Given the description of an element on the screen output the (x, y) to click on. 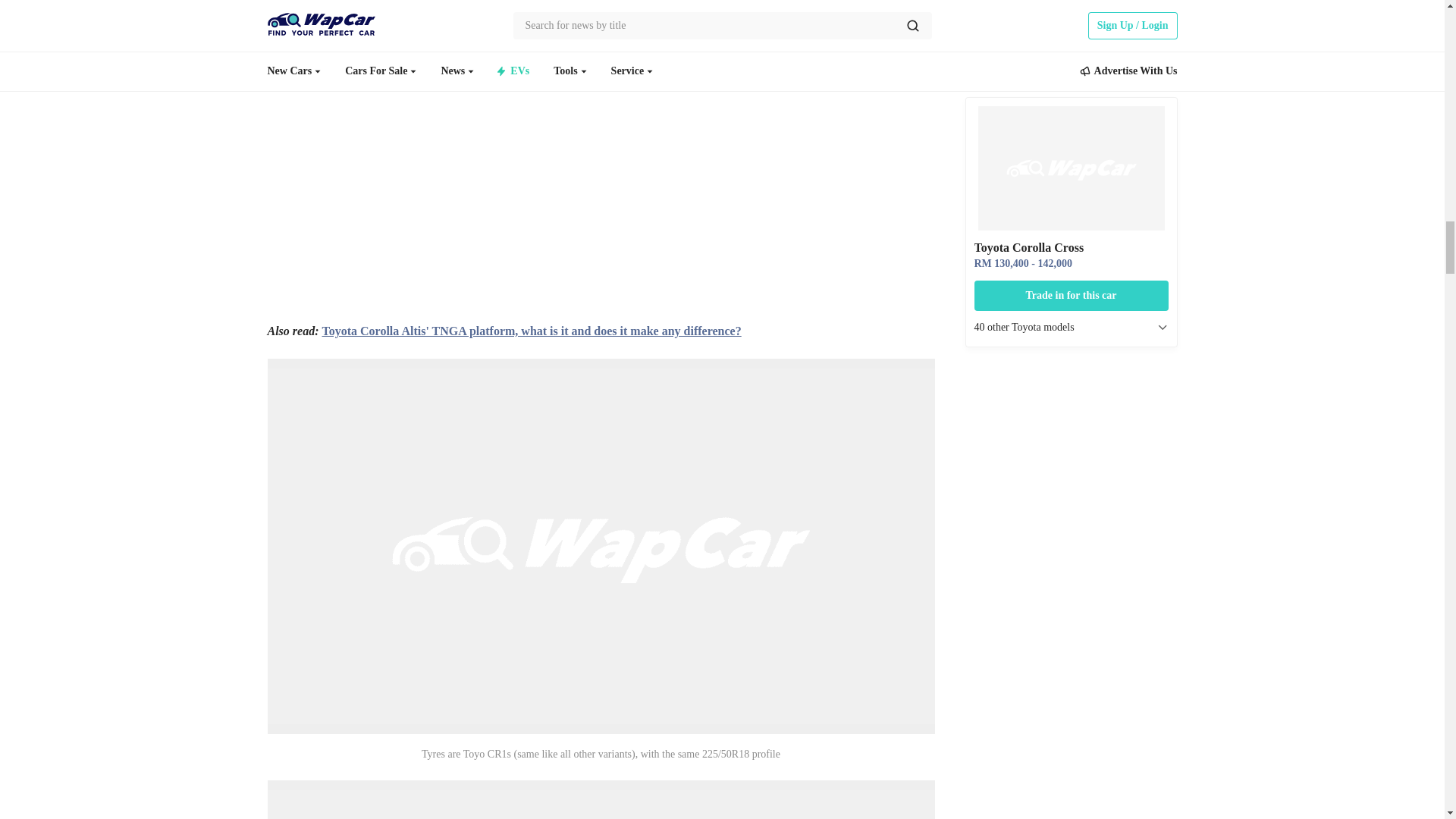
Toyota Corolla Cross (1070, 76)
